Given the description of an element on the screen output the (x, y) to click on. 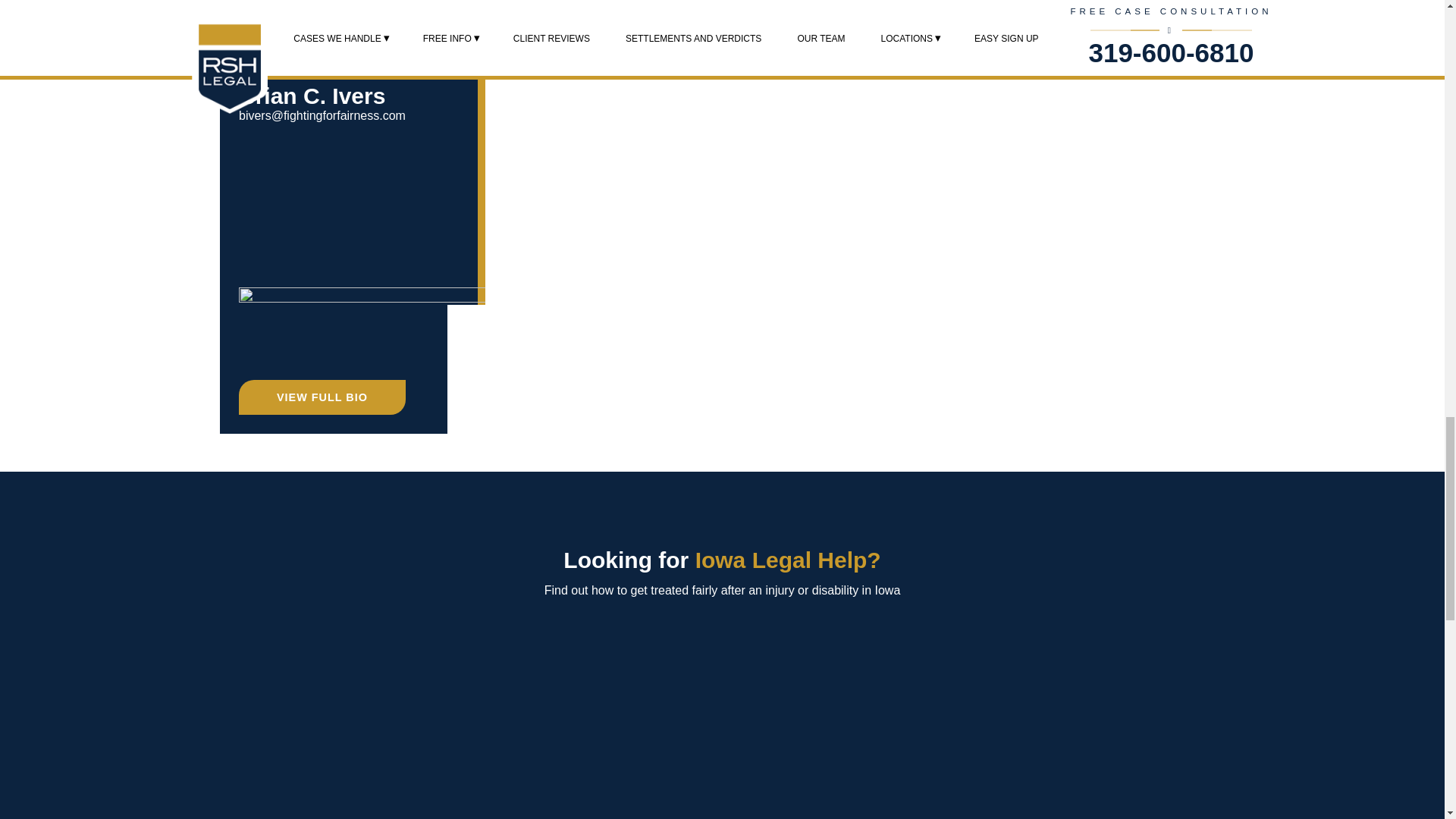
VIEW FULL BIO (322, 397)
Brian C. Ivers (311, 95)
